Given the description of an element on the screen output the (x, y) to click on. 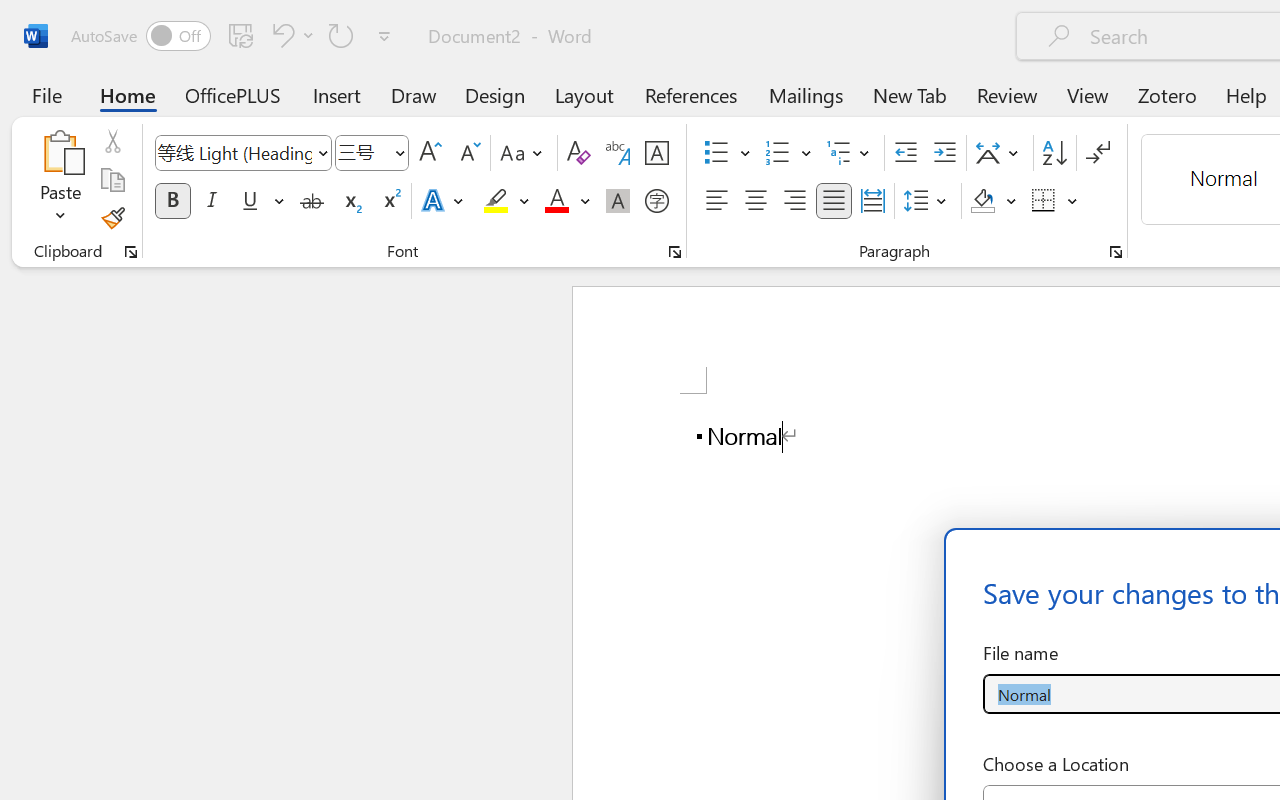
AutoSave (140, 35)
Undo Typing (290, 35)
Character Border (656, 153)
OfficePLUS (233, 94)
Text Highlight Color (506, 201)
Shading (993, 201)
Font (242, 153)
Quick Access Toolbar (233, 36)
Review (1007, 94)
Font Color Red (556, 201)
Grow Font (430, 153)
Multilevel List (850, 153)
File Tab (46, 94)
Insert (337, 94)
